Given the description of an element on the screen output the (x, y) to click on. 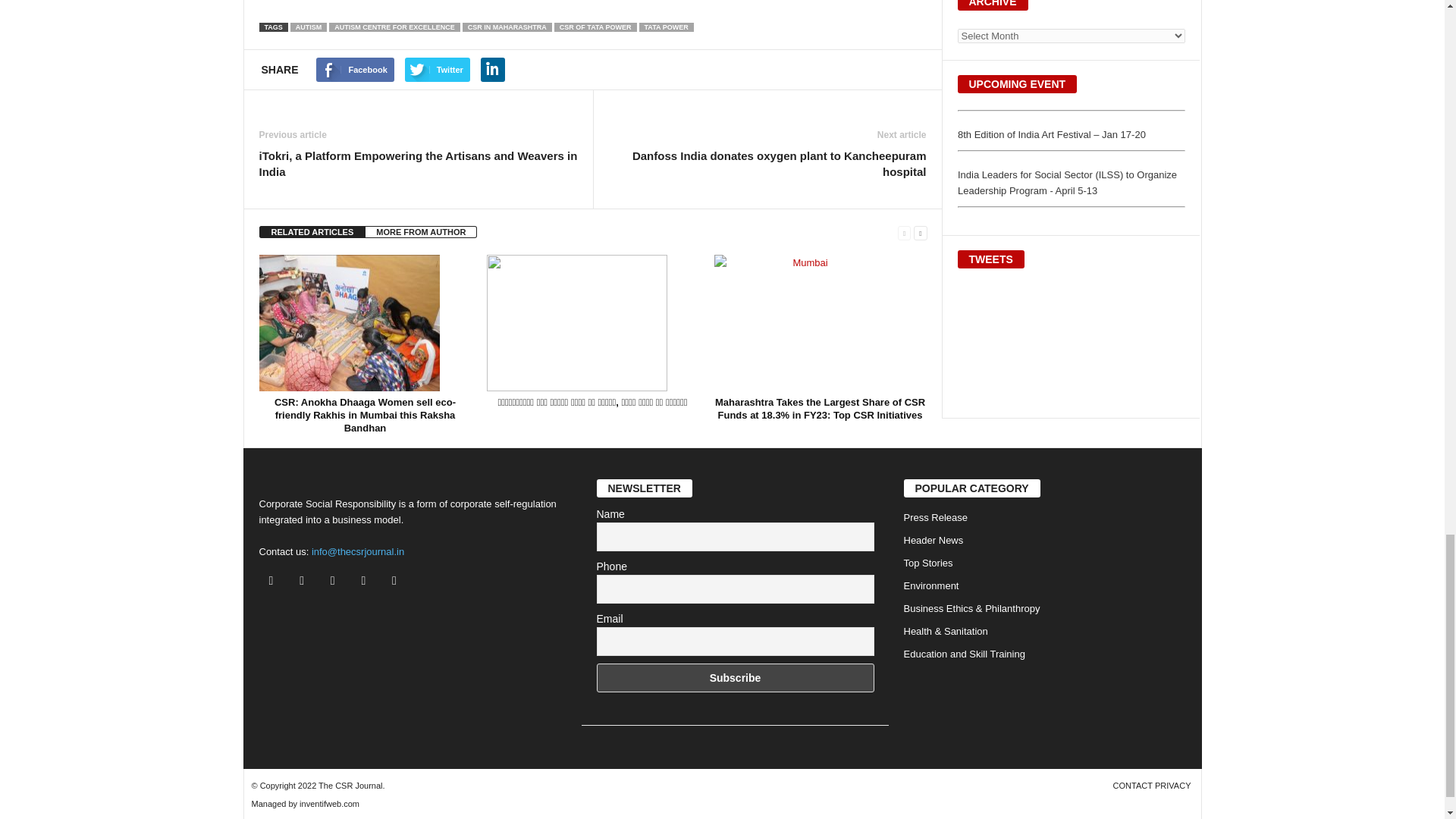
Subscribe (734, 677)
